Given the description of an element on the screen output the (x, y) to click on. 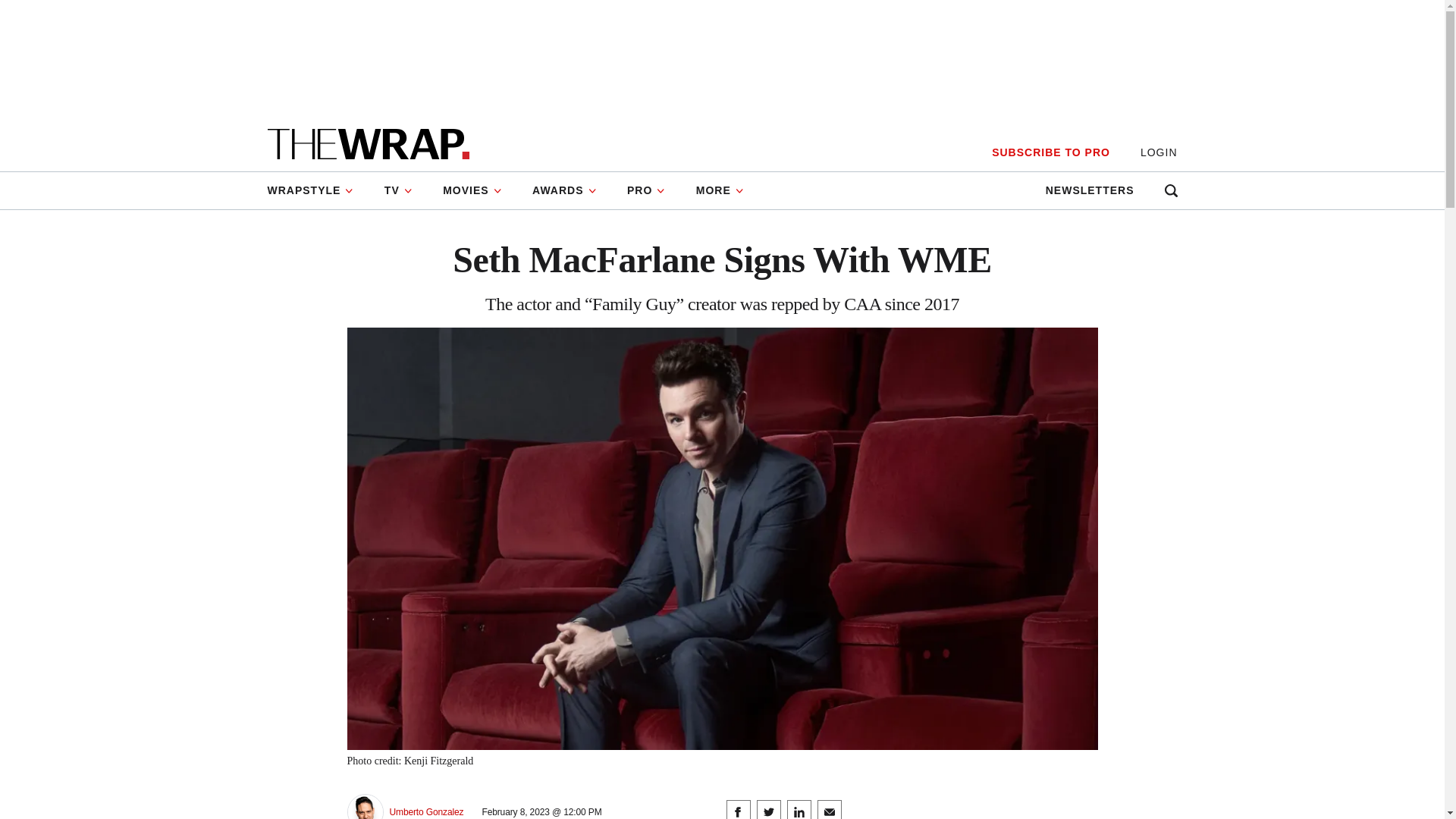
LOGIN (1158, 152)
WRAPSTYLE (317, 190)
MORE (719, 190)
PRO (646, 190)
TV (398, 190)
Posts by Umberto Gonzalez (427, 812)
AWARDS (563, 190)
MOVIES (472, 190)
SUBSCRIBE TO PRO (1050, 152)
